Given the description of an element on the screen output the (x, y) to click on. 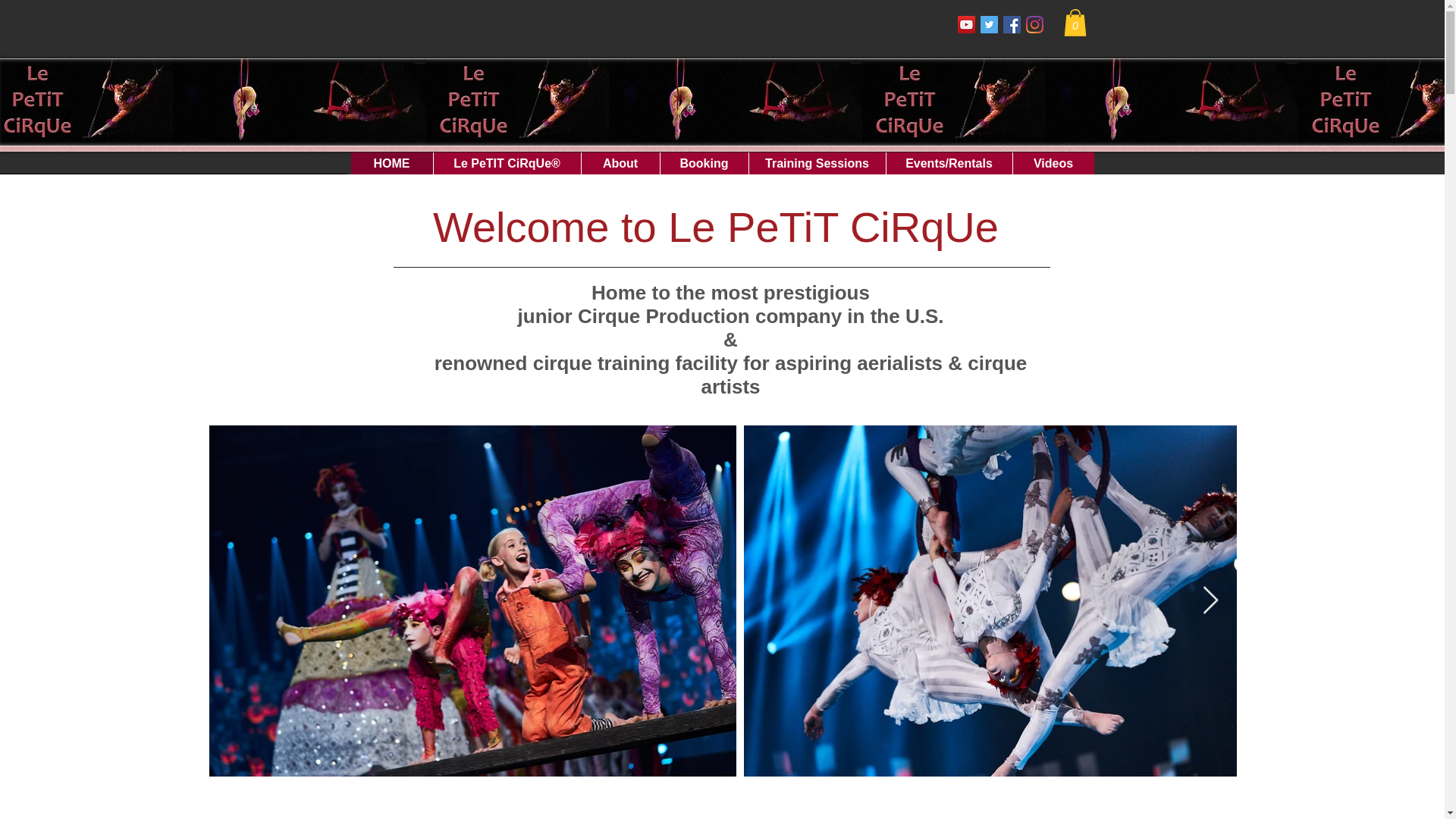
Videos (1052, 163)
Booking (703, 163)
HOME (391, 163)
